Given the description of an element on the screen output the (x, y) to click on. 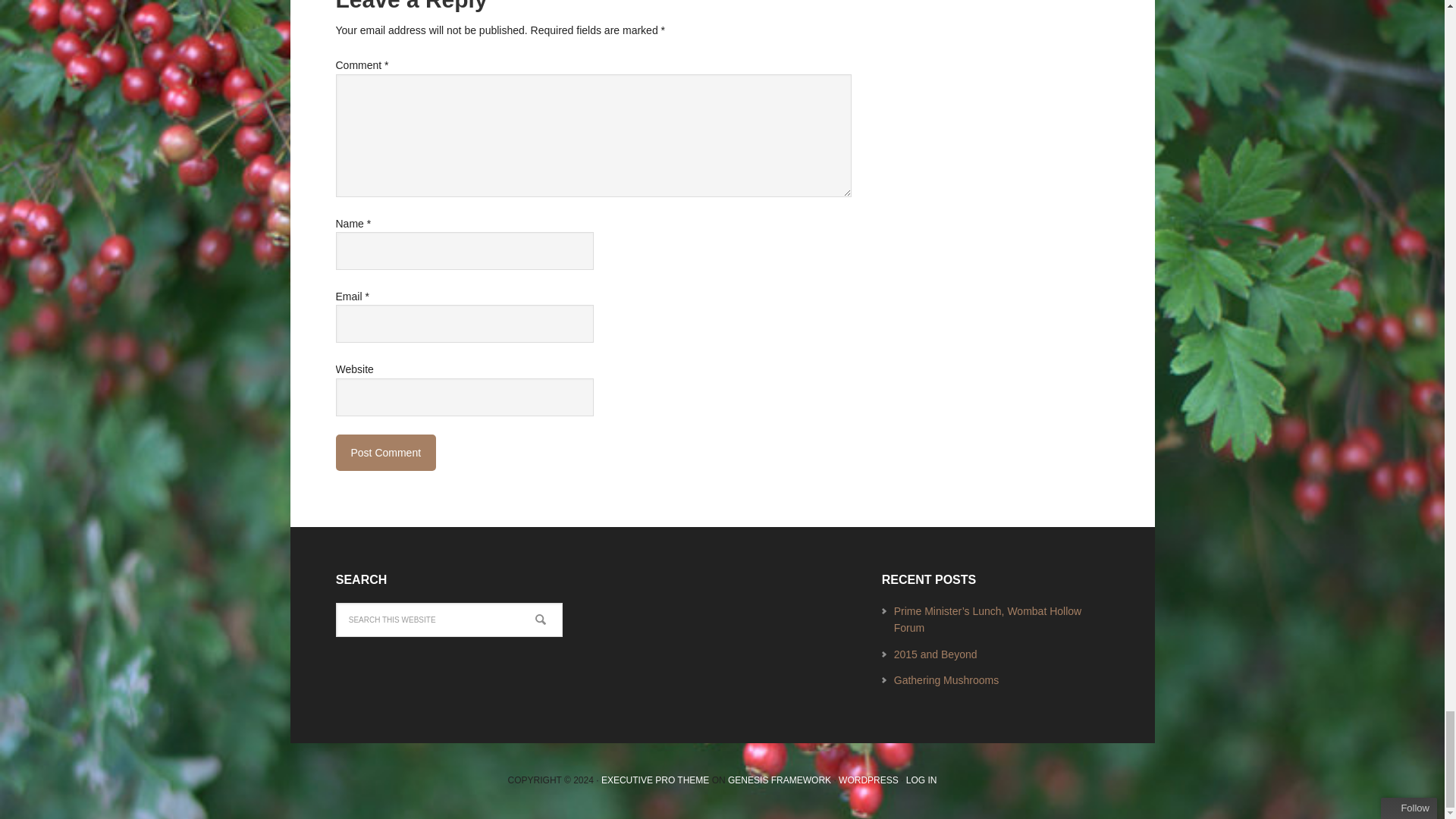
Post Comment (384, 452)
